Given the description of an element on the screen output the (x, y) to click on. 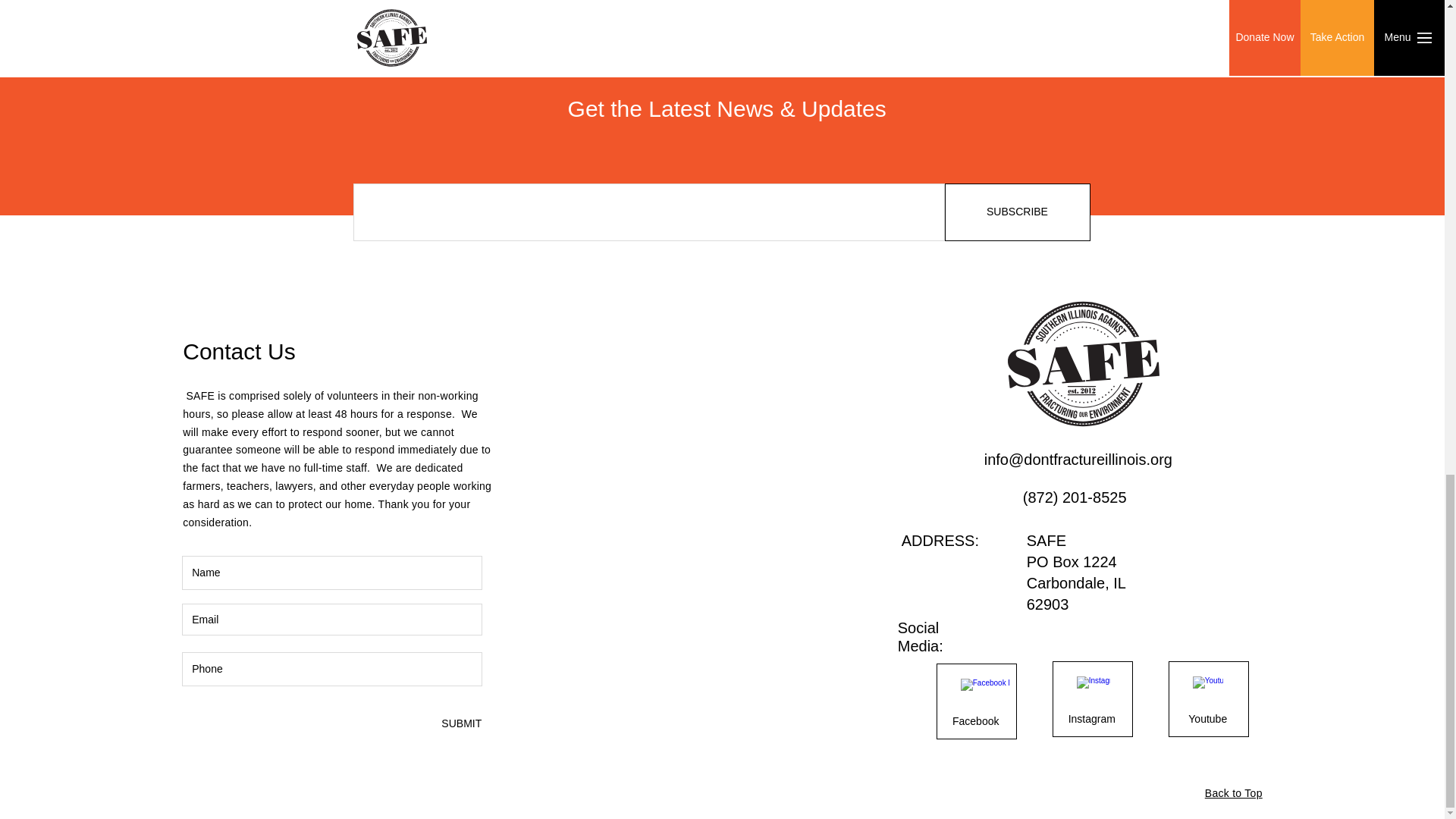
Back to Top (1233, 793)
Youtube (1207, 719)
Instagram (1091, 719)
Facebook (975, 721)
SUBMIT (460, 723)
SUBSCRIBE (1017, 211)
